Given the description of an element on the screen output the (x, y) to click on. 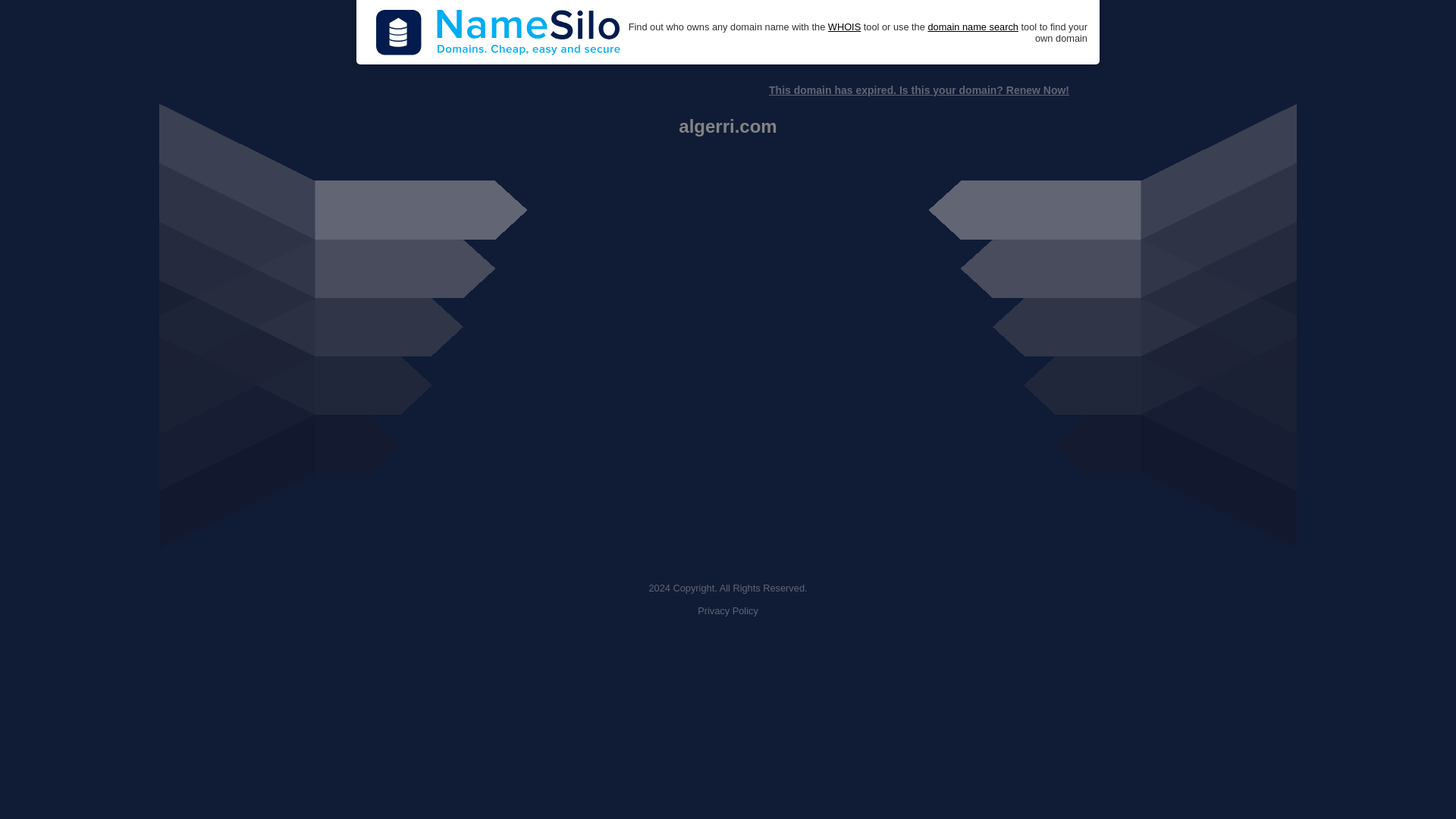
domain name search (972, 26)
This domain has expired. Is this your domain? Renew Now! (918, 90)
WHOIS (844, 26)
Privacy Policy (727, 610)
